Given the description of an element on the screen output the (x, y) to click on. 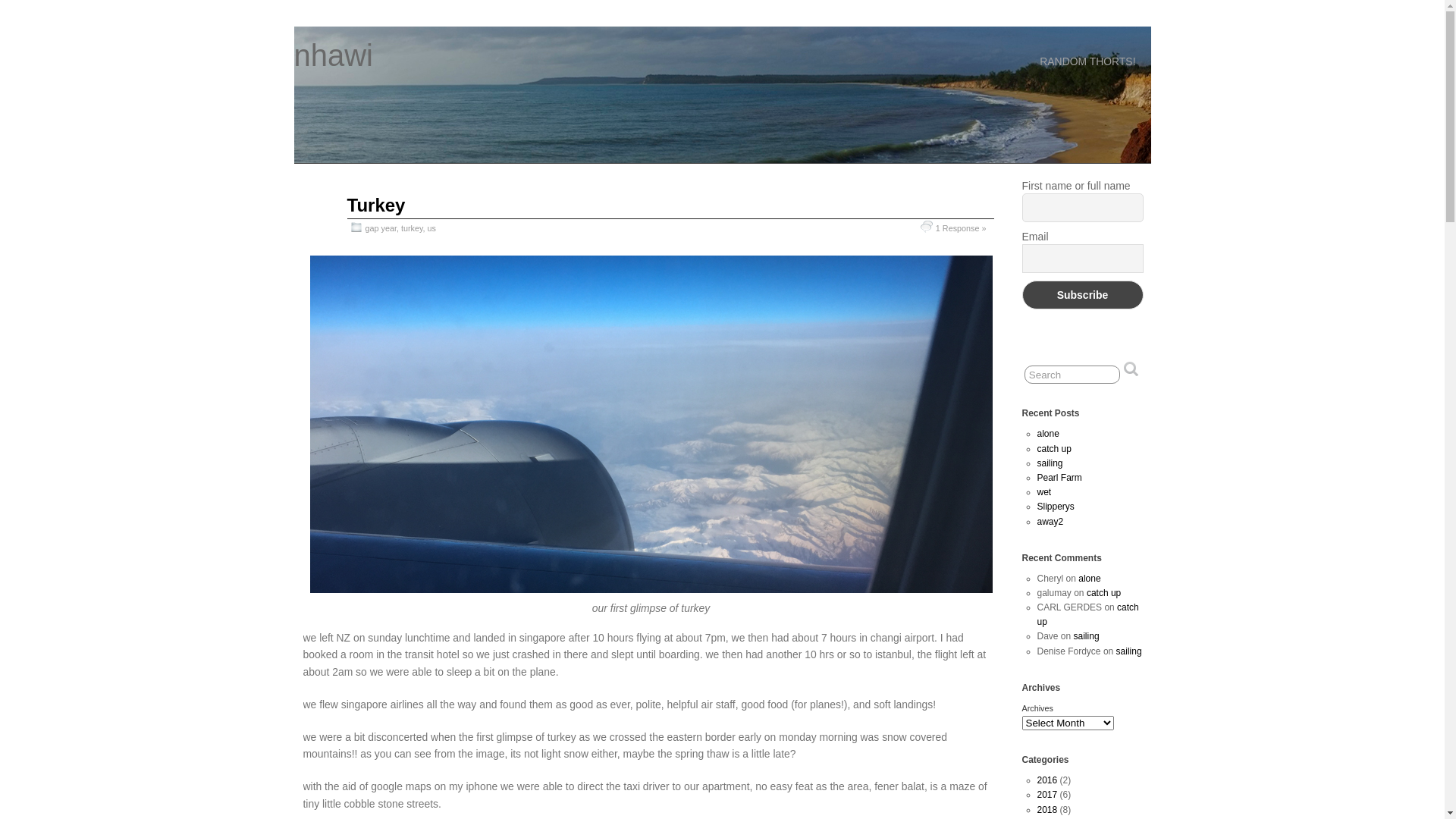
catch up Element type: text (1088, 614)
turkey Element type: text (412, 227)
nhawi Element type: text (333, 55)
catch up Element type: text (1054, 448)
wet Element type: text (1044, 491)
catch up Element type: text (1103, 592)
Slipperys Element type: text (1055, 506)
Subscribe Element type: text (1082, 294)
sailing Element type: text (1050, 463)
2016 Element type: text (1047, 780)
sailing Element type: text (1086, 635)
alone Element type: text (1089, 578)
Turkey Element type: text (376, 204)
2018 Element type: text (1047, 809)
gap year Element type: text (380, 227)
alone Element type: text (1048, 433)
away2 Element type: text (1050, 520)
us Element type: text (431, 227)
2017 Element type: text (1047, 794)
Pearl Farm Element type: text (1059, 477)
sailing Element type: text (1129, 651)
